Given the description of an element on the screen output the (x, y) to click on. 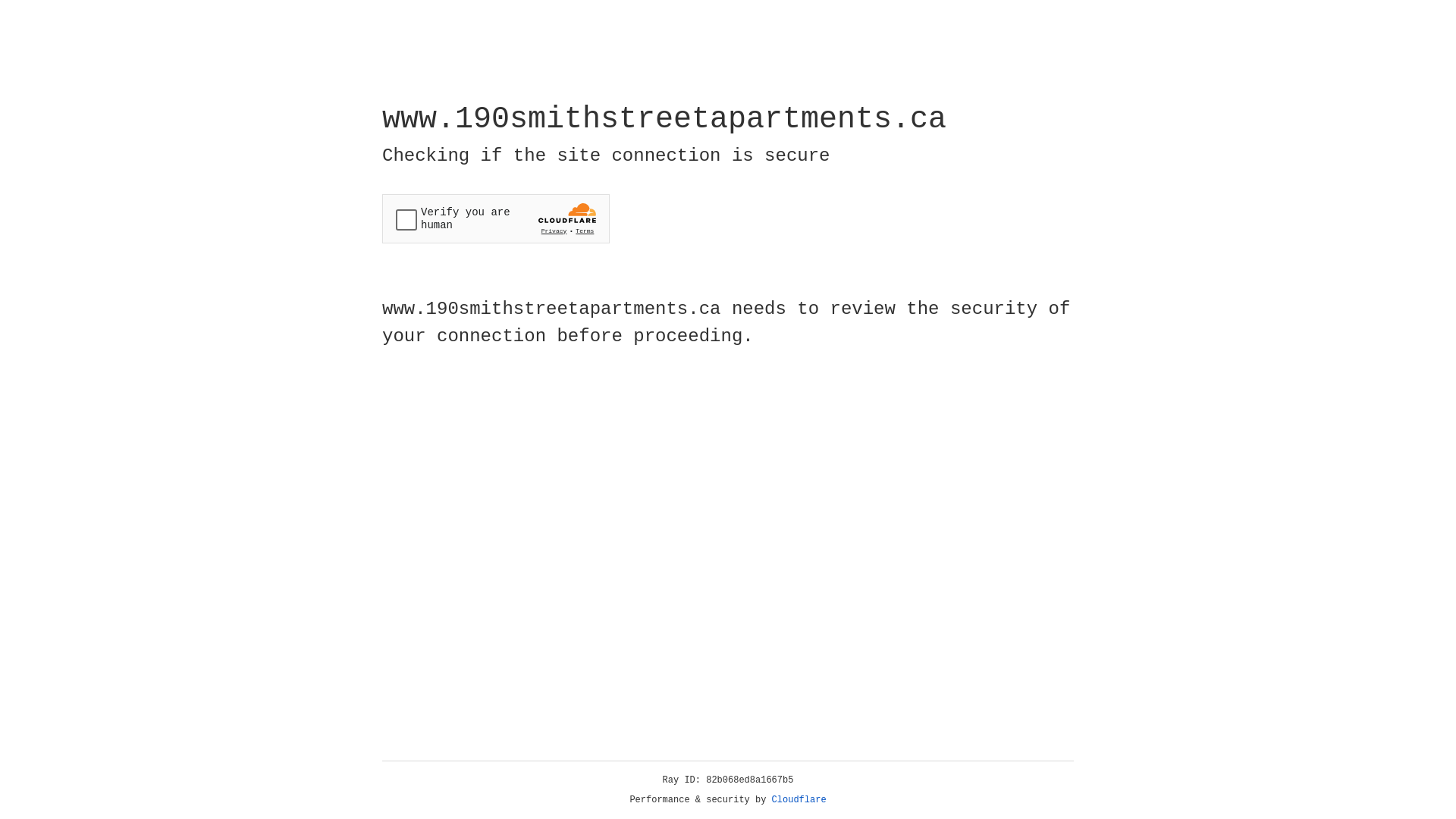
Cloudflare Element type: text (798, 799)
Widget containing a Cloudflare security challenge Element type: hover (495, 218)
